Given the description of an element on the screen output the (x, y) to click on. 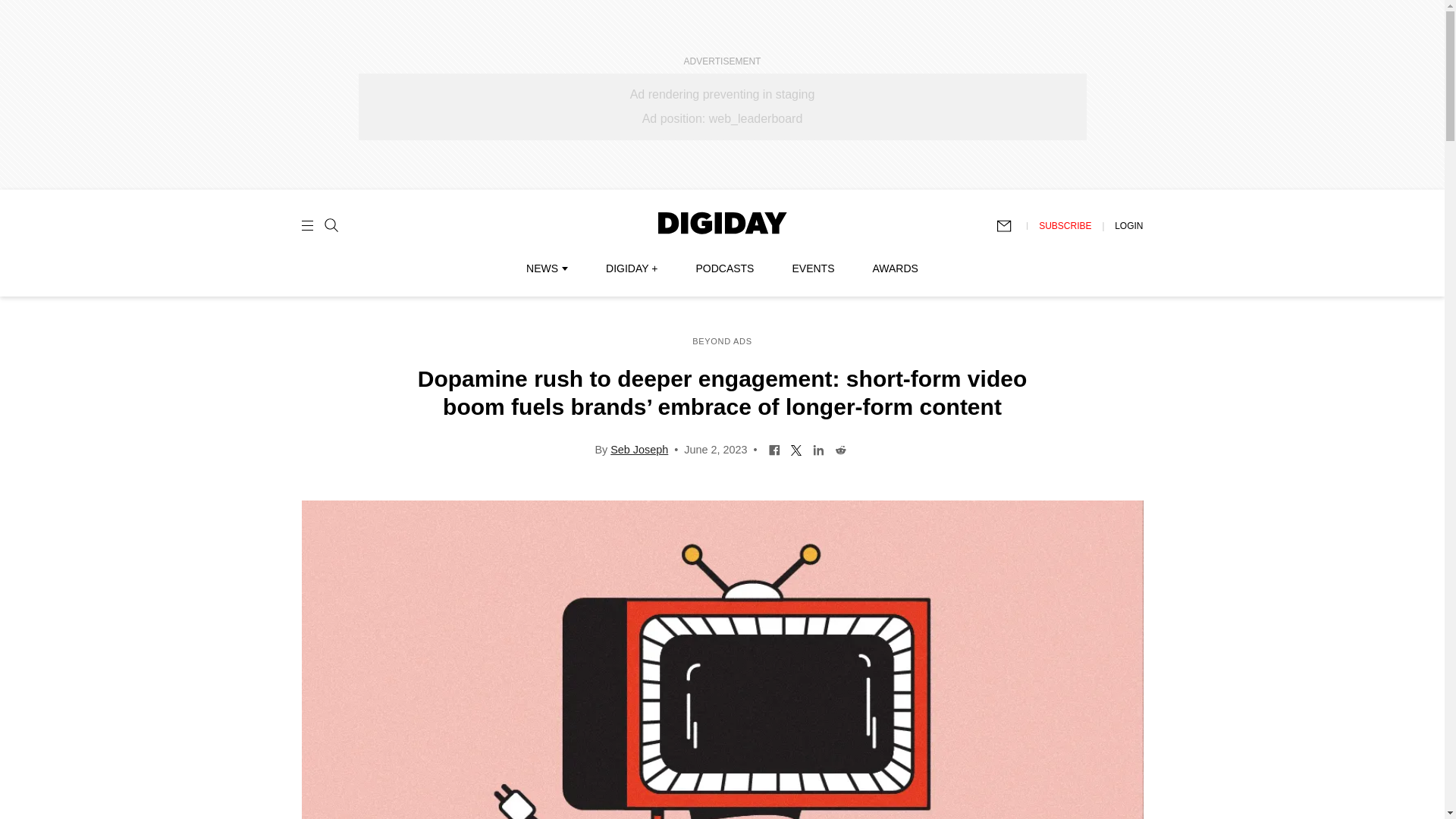
Share on LinkedIn (818, 449)
SUBSCRIBE (1064, 225)
LOGIN (1128, 225)
Share on Reddit (840, 449)
Share on Facebook (774, 449)
PODCASTS (725, 267)
Share on Twitter (796, 449)
Subscribe (1010, 225)
EVENTS (813, 267)
NEWS (546, 267)
